Given the description of an element on the screen output the (x, y) to click on. 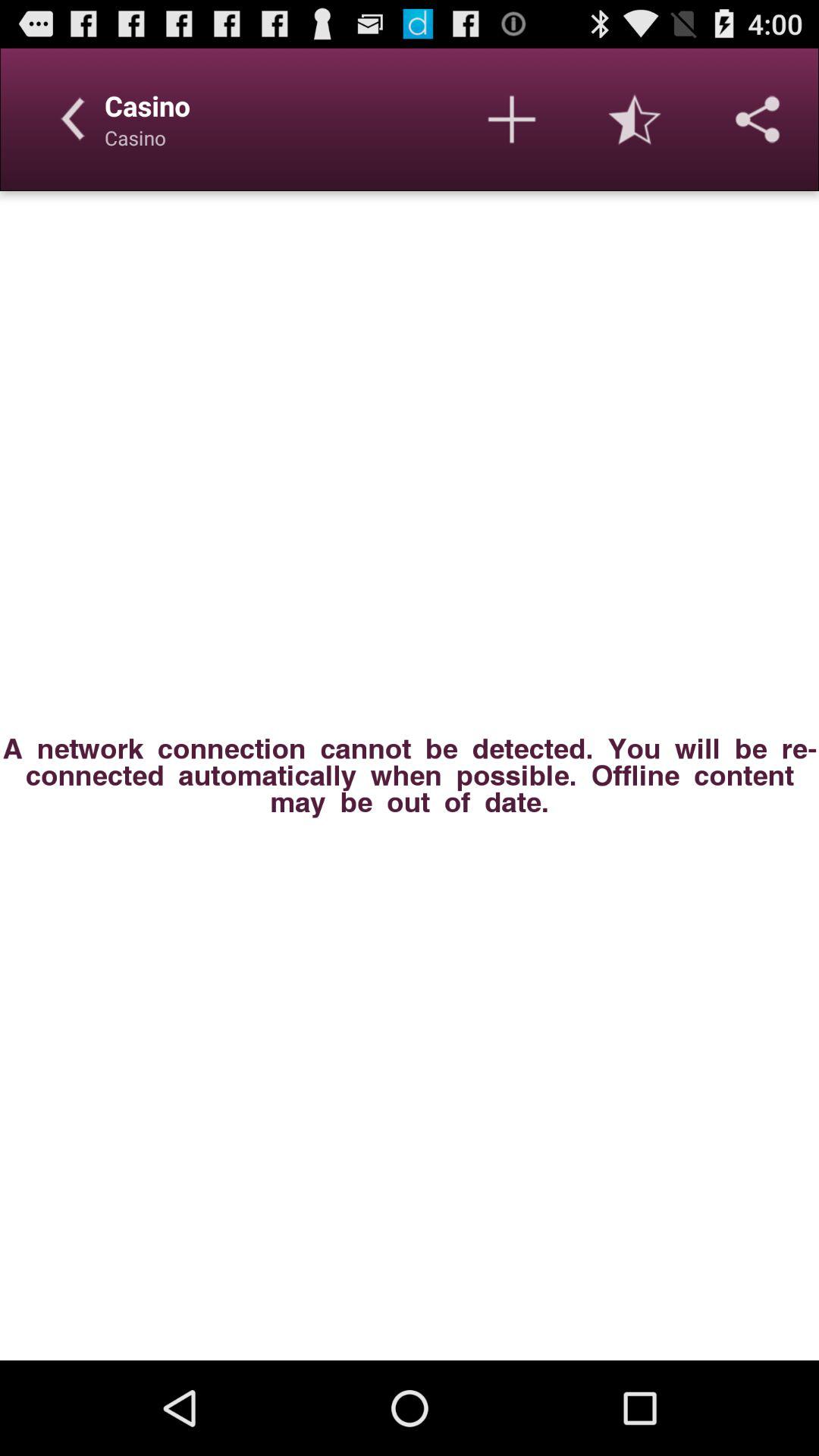
click item above the a network connection (757, 119)
